Given the description of an element on the screen output the (x, y) to click on. 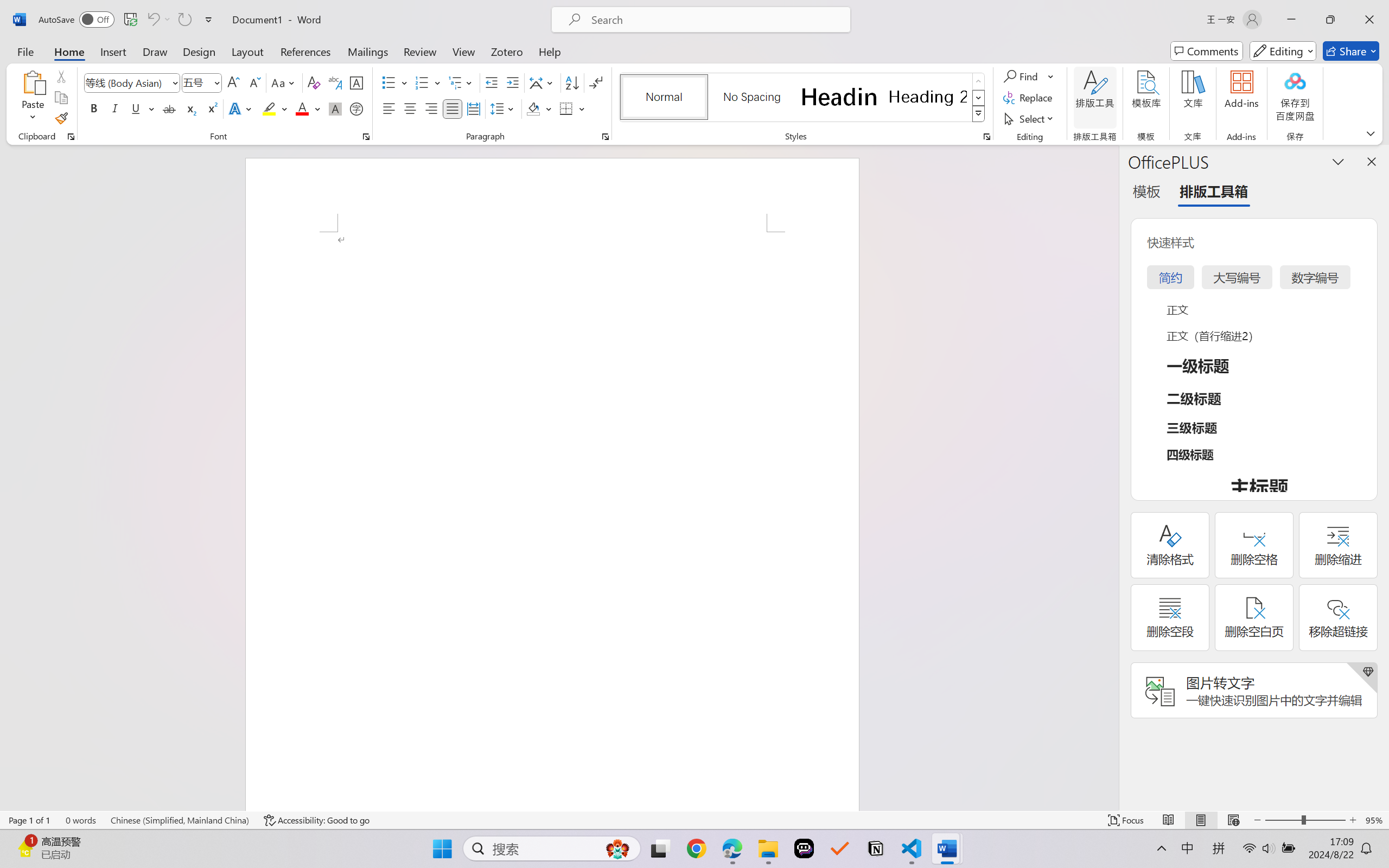
Can't Undo (158, 19)
